Given the description of an element on the screen output the (x, y) to click on. 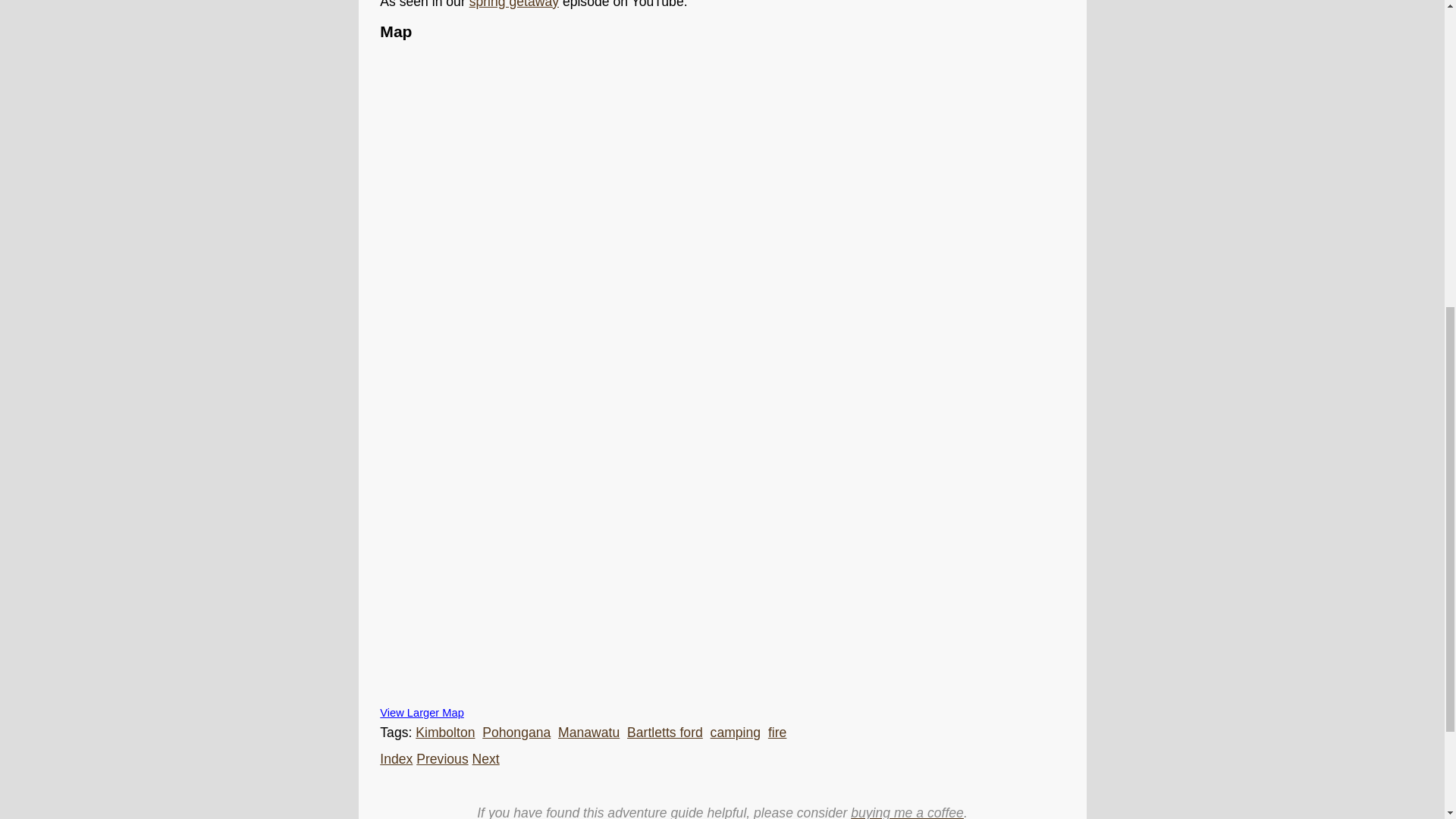
Pohongana (515, 732)
Previous (441, 758)
Next (485, 758)
spring getaway (513, 4)
Kimbolton (444, 732)
Index (396, 758)
fire (777, 732)
camping (735, 732)
View Larger Map (422, 712)
Bartletts ford (665, 732)
